Given the description of an element on the screen output the (x, y) to click on. 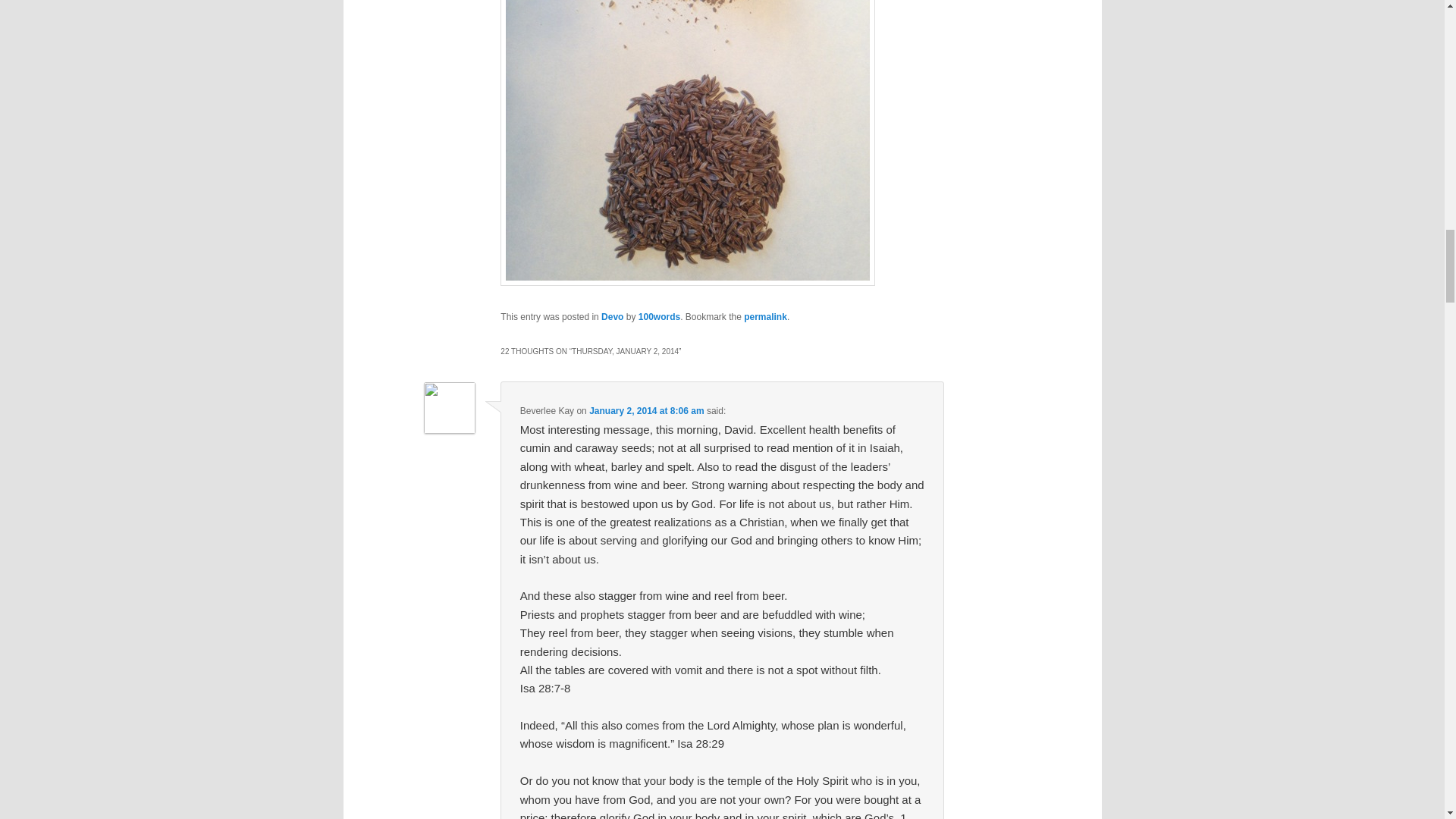
Permalink to Thursday, January 2, 2014 (765, 317)
Devo (612, 317)
January 2, 2014 - extra (687, 142)
January 2, 2014 at 8:06 am (646, 410)
permalink (765, 317)
100words (659, 317)
